Given the description of an element on the screen output the (x, y) to click on. 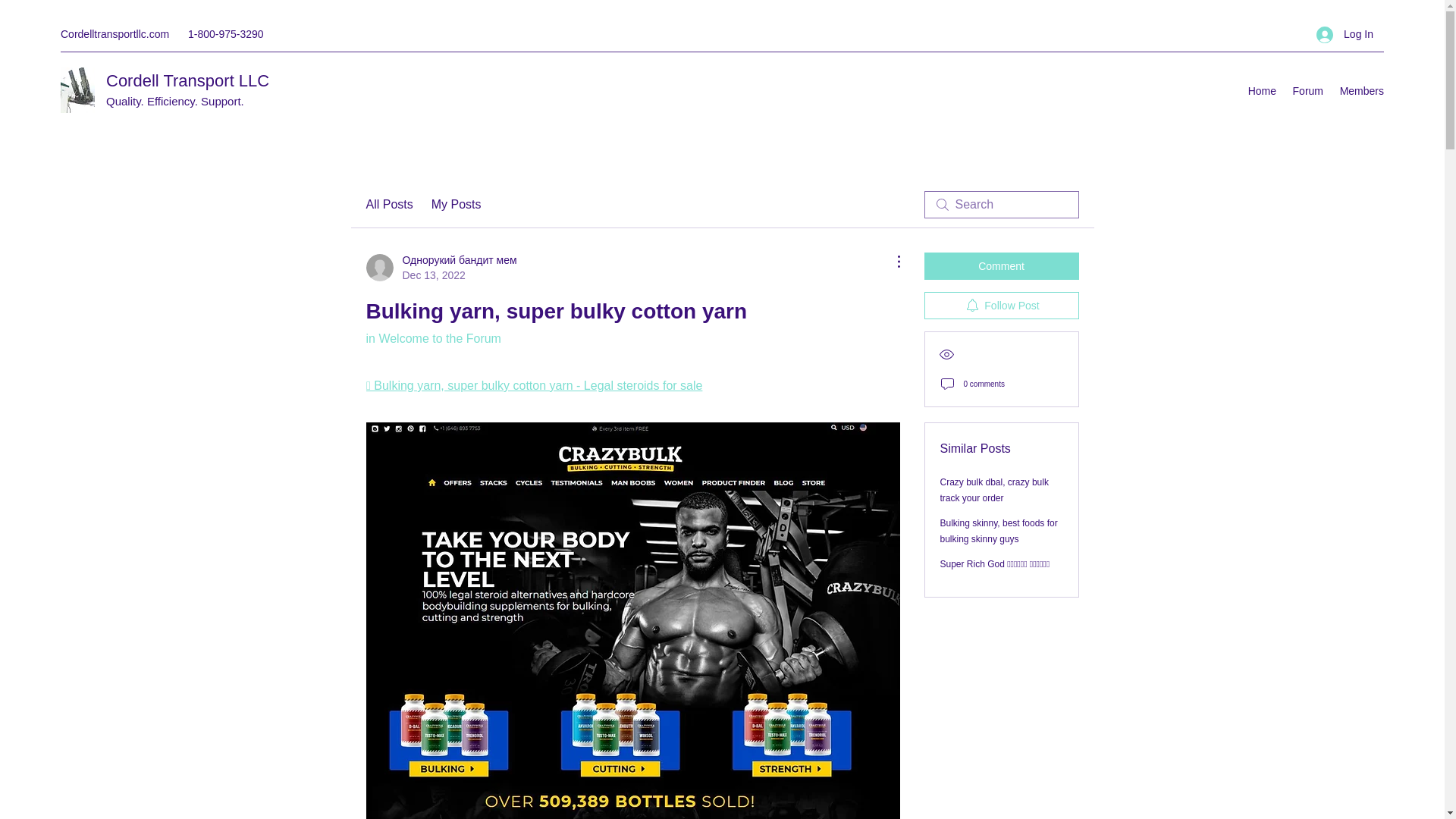
All Posts (388, 204)
Log In (1345, 34)
Follow Post (1000, 305)
Comment (1000, 266)
Crazy bulk dbal, crazy bulk track your order (994, 489)
Cordell Transport LLC (187, 80)
Bulking skinny, best foods for bulking skinny guys (999, 530)
Home (1262, 90)
in Welcome to the Forum (432, 338)
Members (1360, 90)
